Given the description of an element on the screen output the (x, y) to click on. 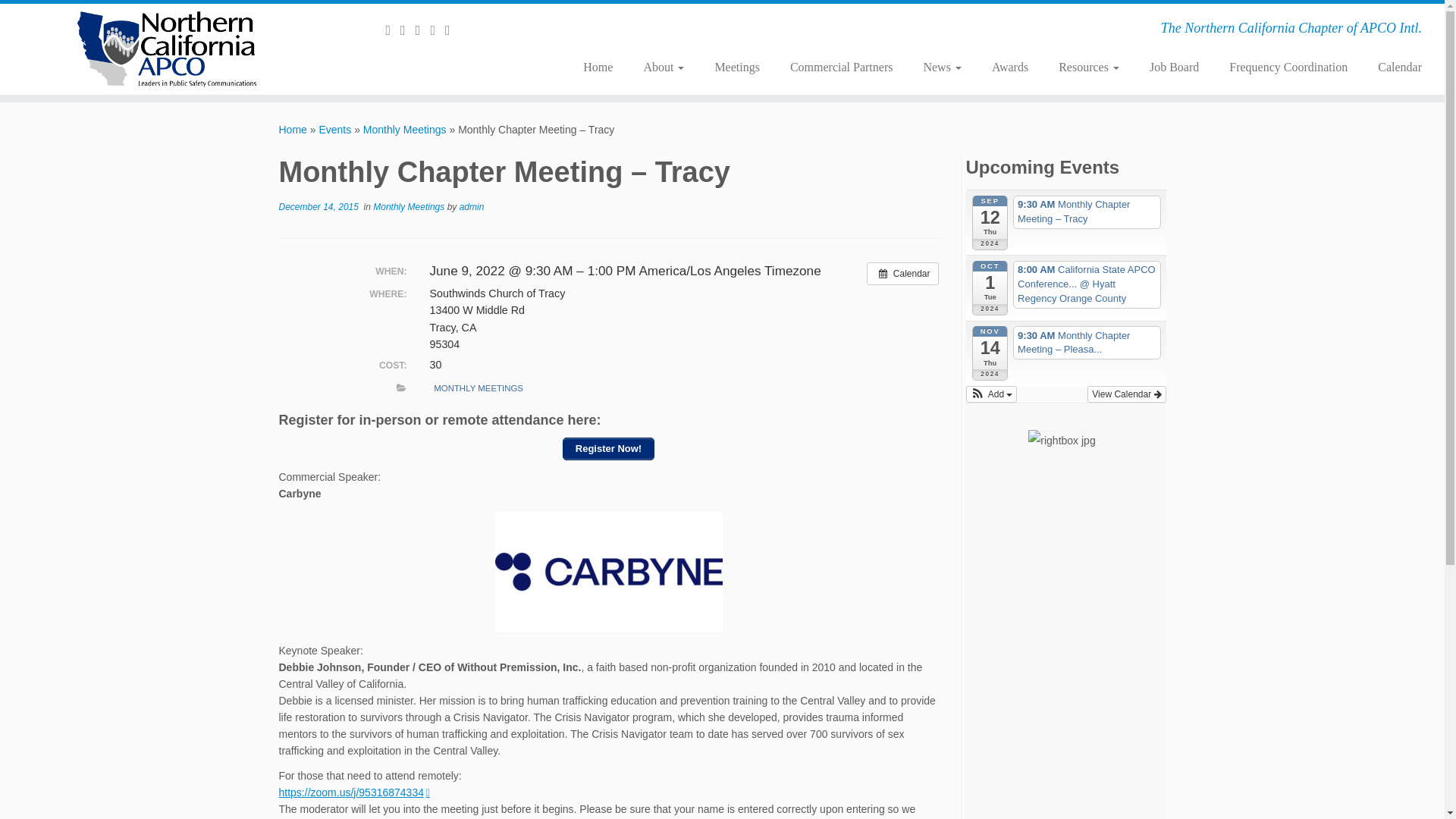
Frequency Coordination (1288, 67)
Commercial Partners (841, 67)
E-mail (392, 29)
Events (334, 129)
11:58 AM (318, 206)
December 14, 2015 (318, 206)
Meetings (736, 67)
Job Board (1174, 67)
Monthly Meetings (409, 206)
Follow us on Facebook-official (452, 29)
Calendar (901, 273)
Resources (1088, 67)
About (662, 67)
Home (597, 67)
NAPCO (293, 129)
